Given the description of an element on the screen output the (x, y) to click on. 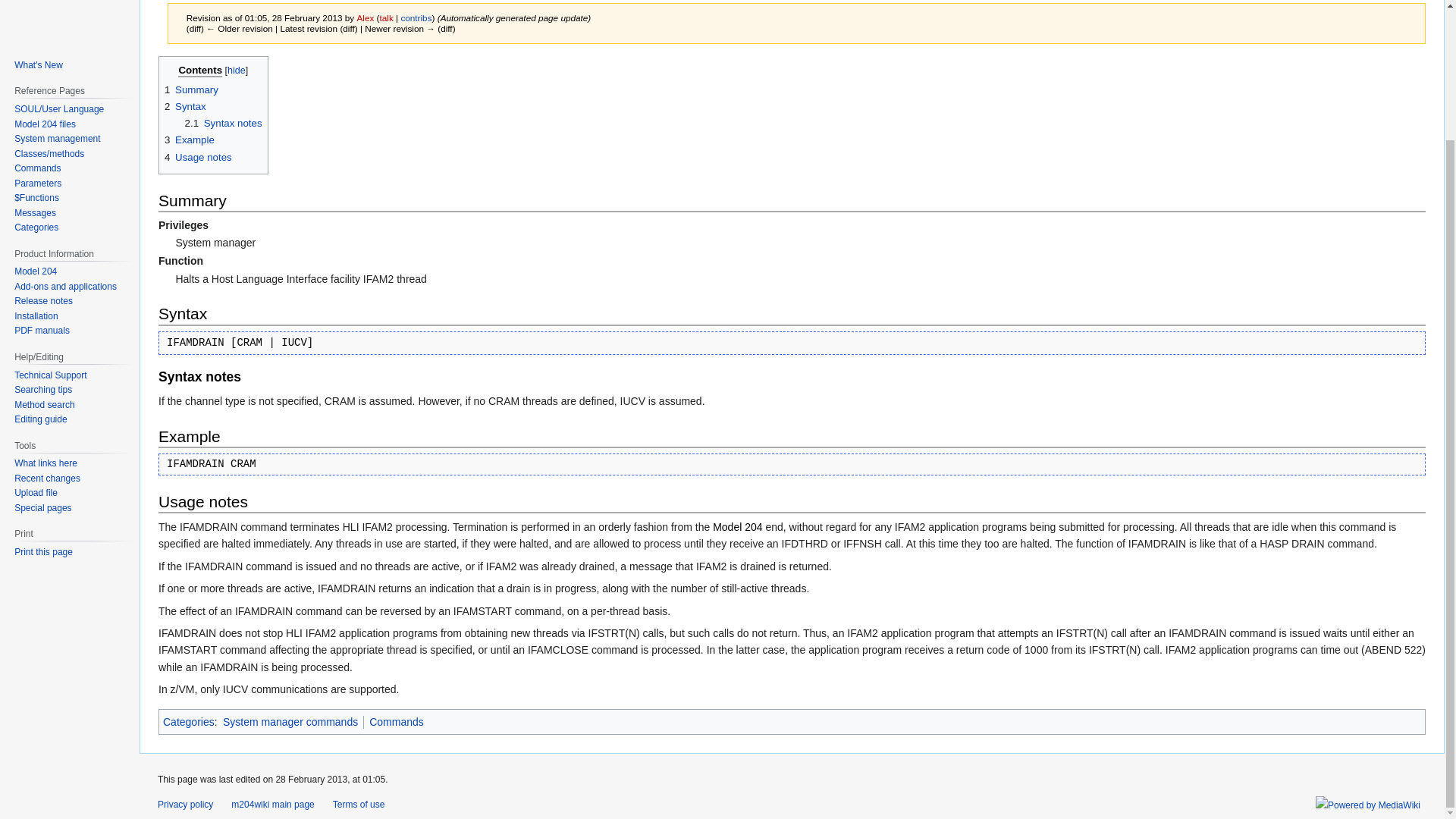
Visit the main page (66, 0)
Model 204 files (44, 123)
Installation (36, 316)
Categories (188, 721)
3 Example (189, 139)
System management (57, 138)
1 Summary (191, 89)
Commands (37, 167)
PDF manuals (41, 330)
Category:System manager commands (290, 721)
Release notes (43, 300)
Parameters (37, 183)
System manager commands (290, 721)
Technical Support (49, 375)
